Given the description of an element on the screen output the (x, y) to click on. 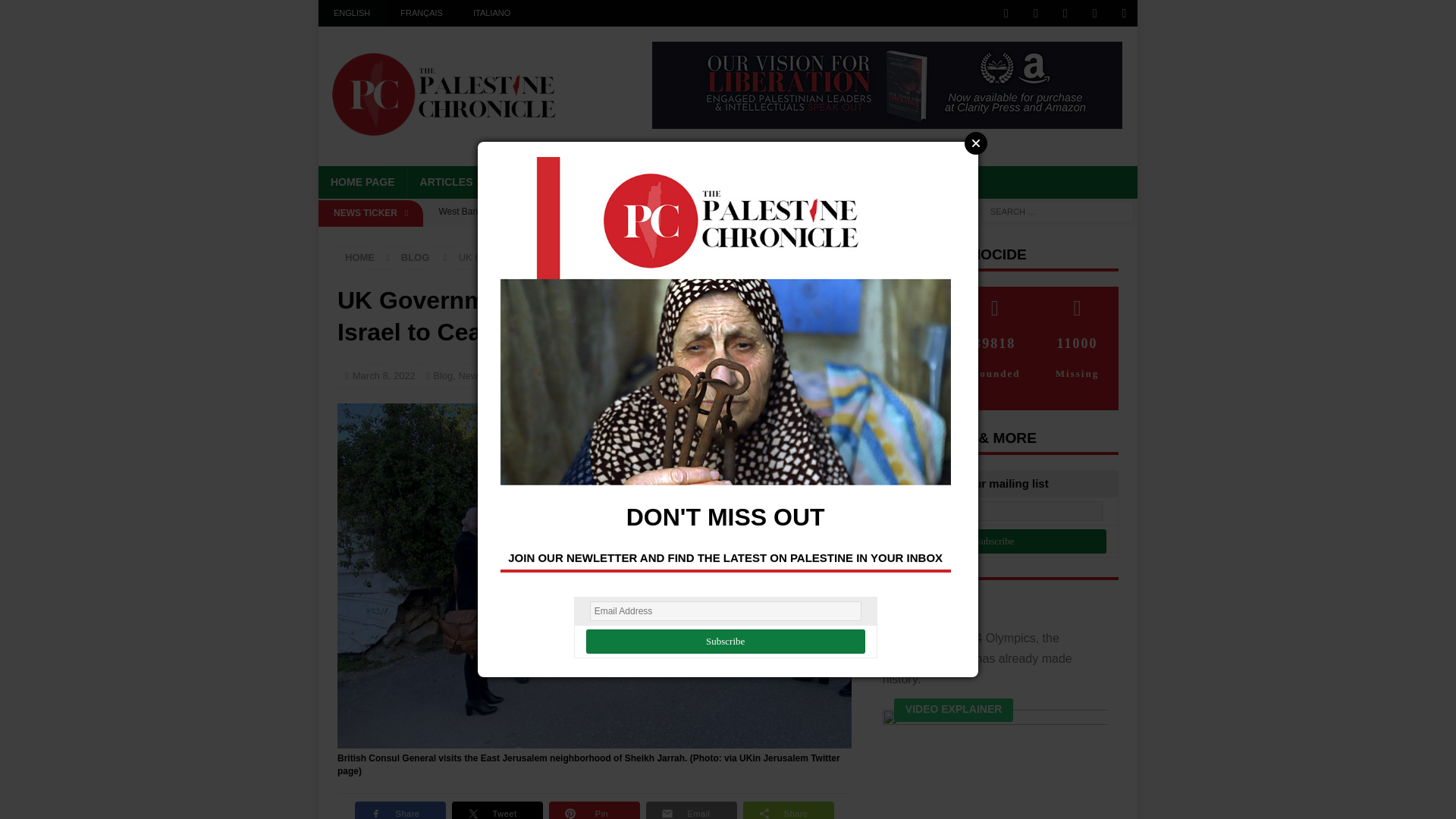
CONTACT US (940, 182)
ABOUT (767, 182)
NEWS (512, 182)
ENGLISH (351, 13)
REVIEWS (699, 182)
Subscribe (725, 641)
VIDEOS (629, 182)
HOME PAGE (362, 182)
SUPPORT US (846, 182)
BLOG (568, 182)
HOME (359, 256)
ITALIANO (491, 13)
ARTICLES (445, 182)
